Given the description of an element on the screen output the (x, y) to click on. 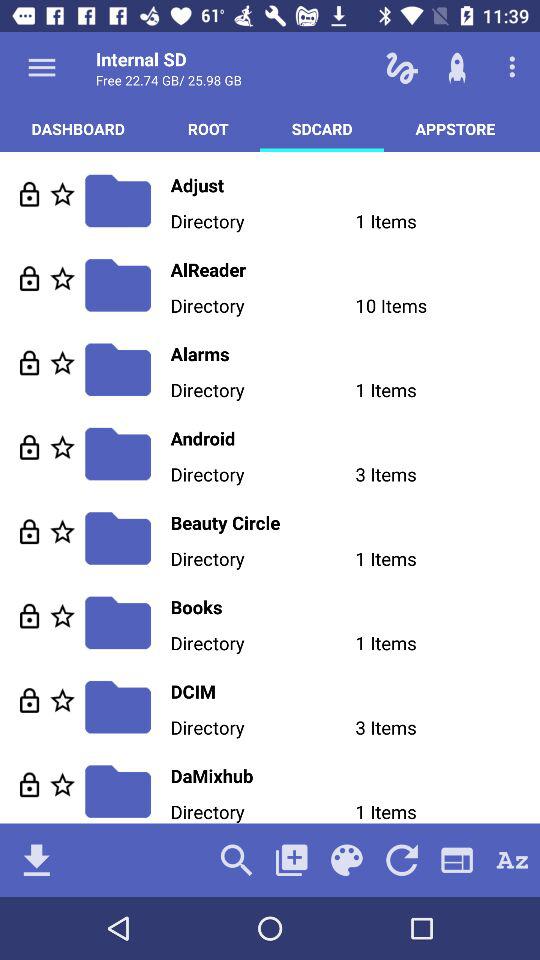
open item below the directory (291, 859)
